Given the description of an element on the screen output the (x, y) to click on. 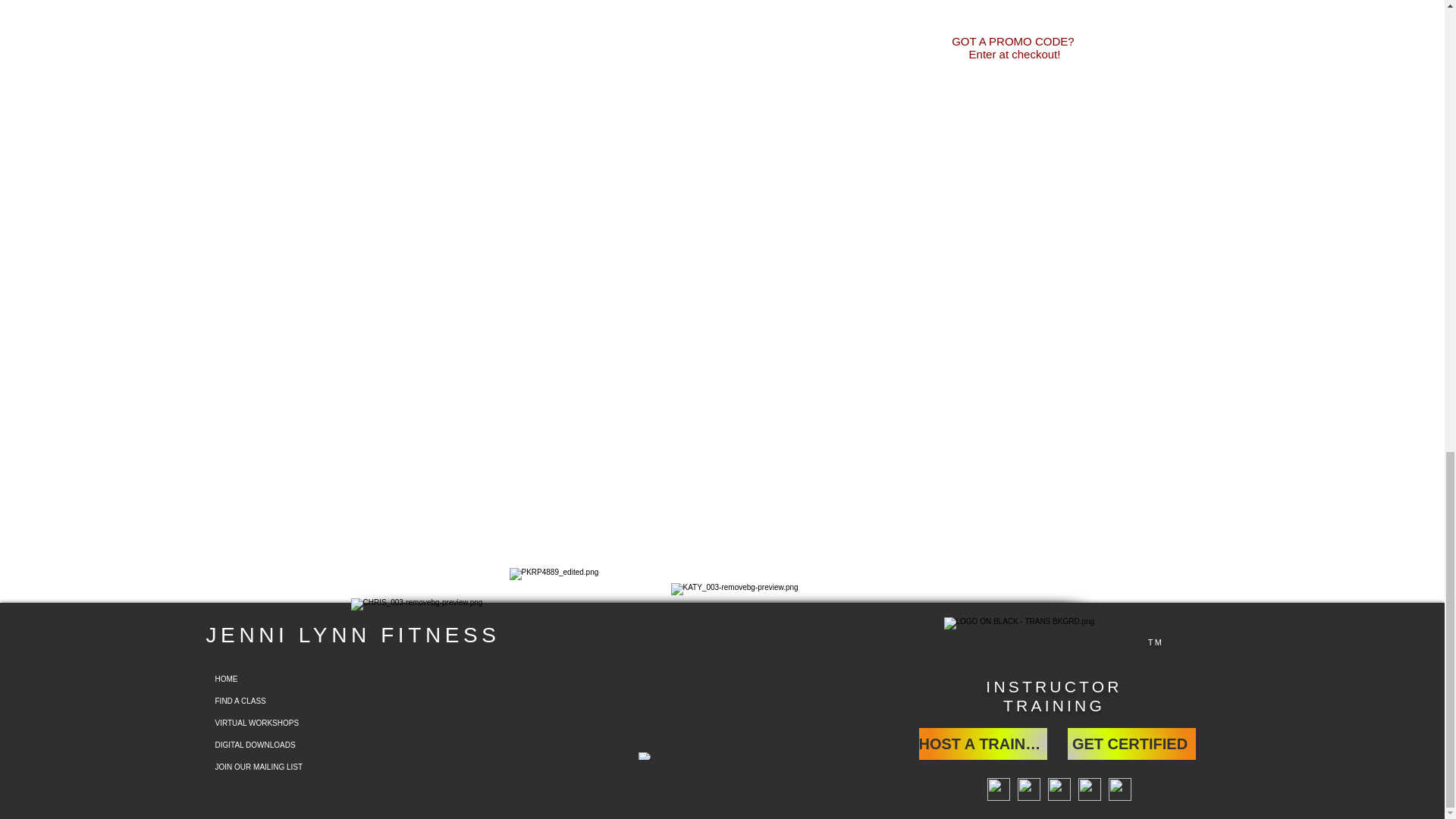
JOIN OUR MAILING LIST (282, 766)
HOME (282, 679)
VIRTUAL WORKSHOPS (282, 722)
FIND A CLASS (282, 700)
DIGITAL DOWNLOADS (282, 744)
